Given the description of an element on the screen output the (x, y) to click on. 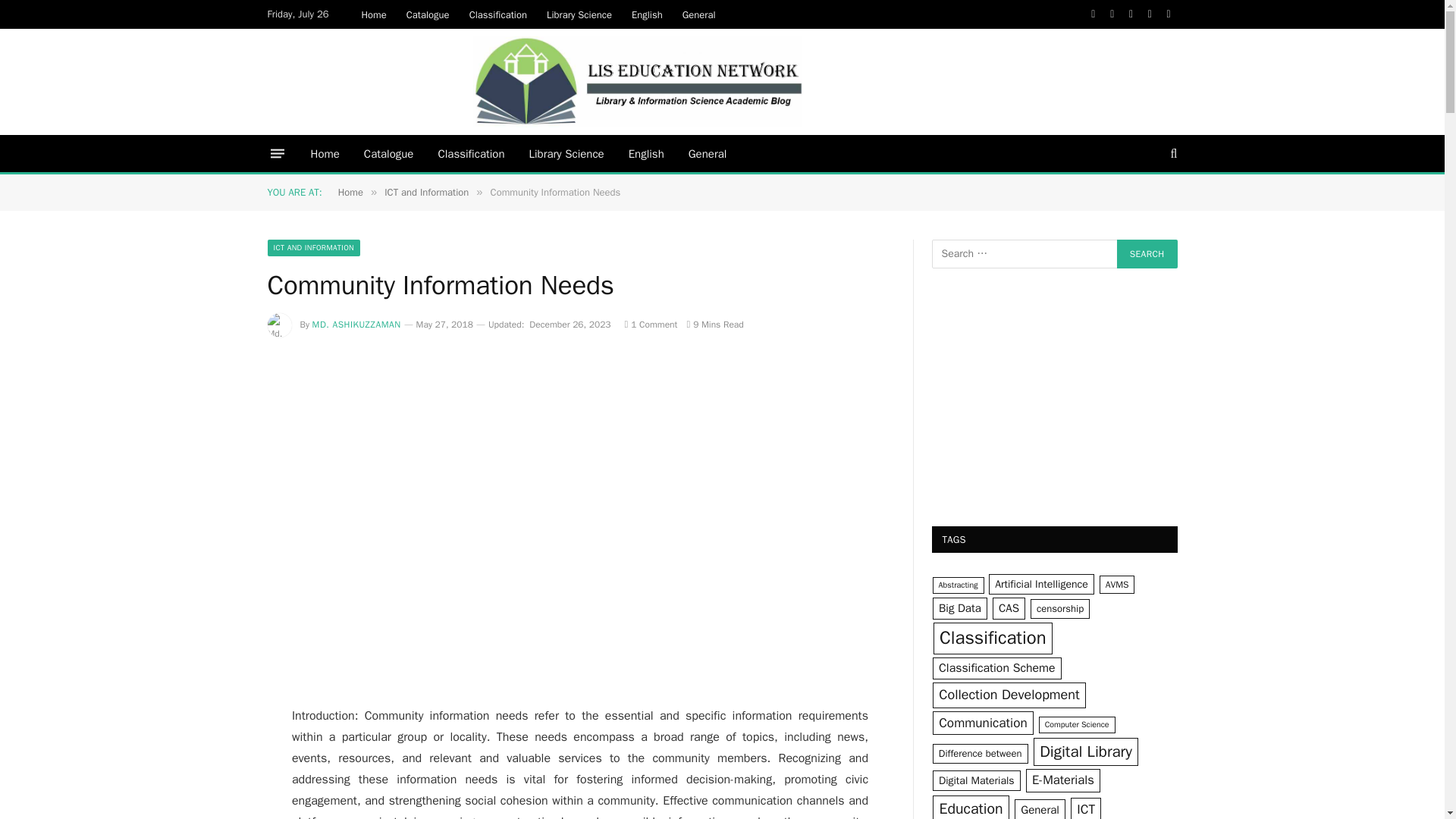
Search (1146, 253)
English (646, 153)
Catalogue (428, 14)
Classification (470, 153)
General (708, 153)
ICT and Information (426, 192)
MD. ASHIKUZZAMAN (357, 324)
General (698, 14)
English (646, 14)
Advertisement (579, 557)
Catalogue (389, 153)
Posts by Md. Ashikuzzaman (357, 324)
Home (349, 192)
Library Science (565, 153)
Classification (498, 14)
